Given the description of an element on the screen output the (x, y) to click on. 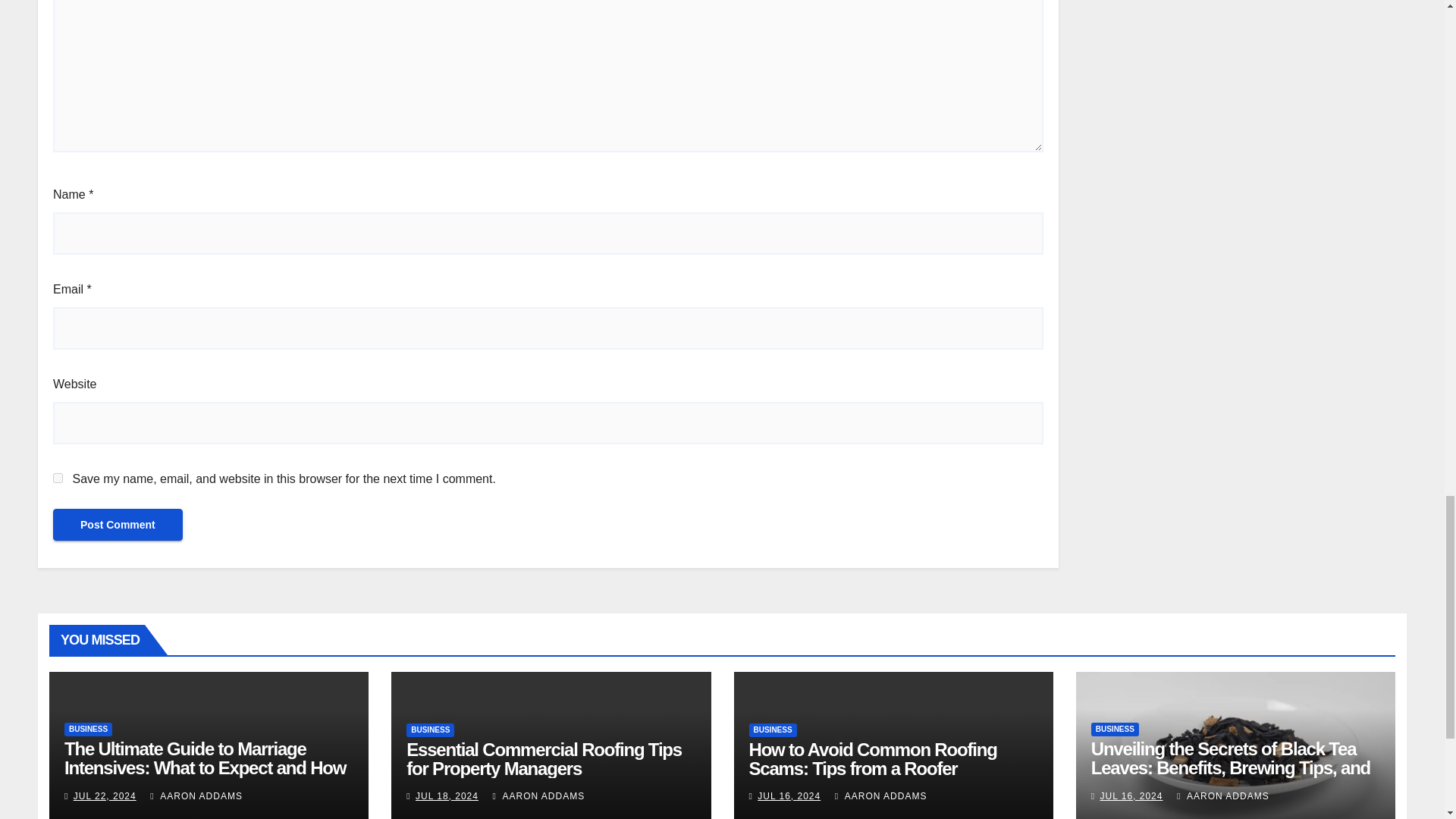
Post Comment (117, 523)
yes (57, 478)
